Given the description of an element on the screen output the (x, y) to click on. 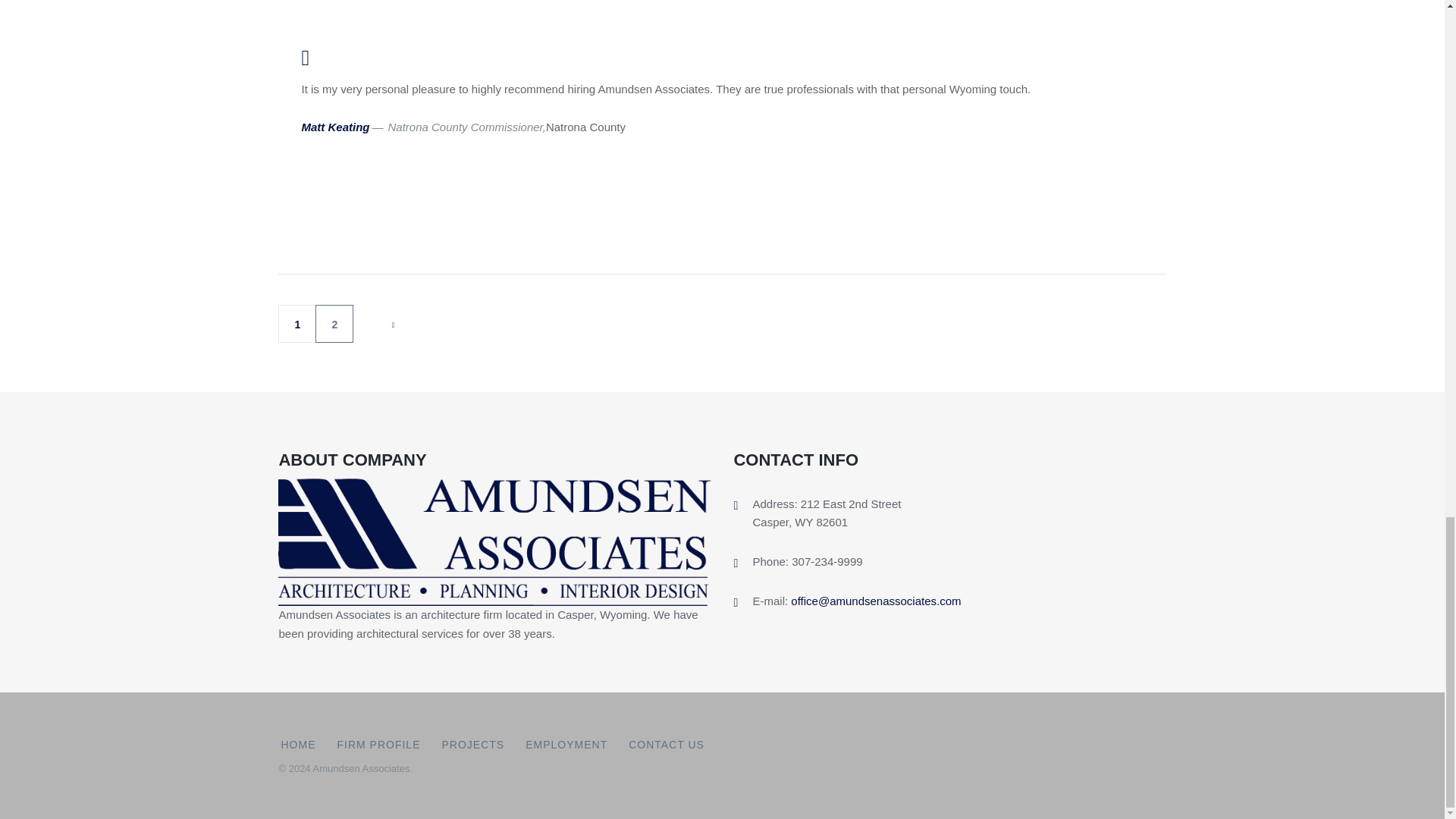
PROJECTS (472, 744)
CONTACT US (666, 744)
EMPLOYMENT (566, 744)
2 (334, 323)
Matt Keating (335, 126)
FIRM PROFILE (378, 744)
HOME (298, 744)
